Given the description of an element on the screen output the (x, y) to click on. 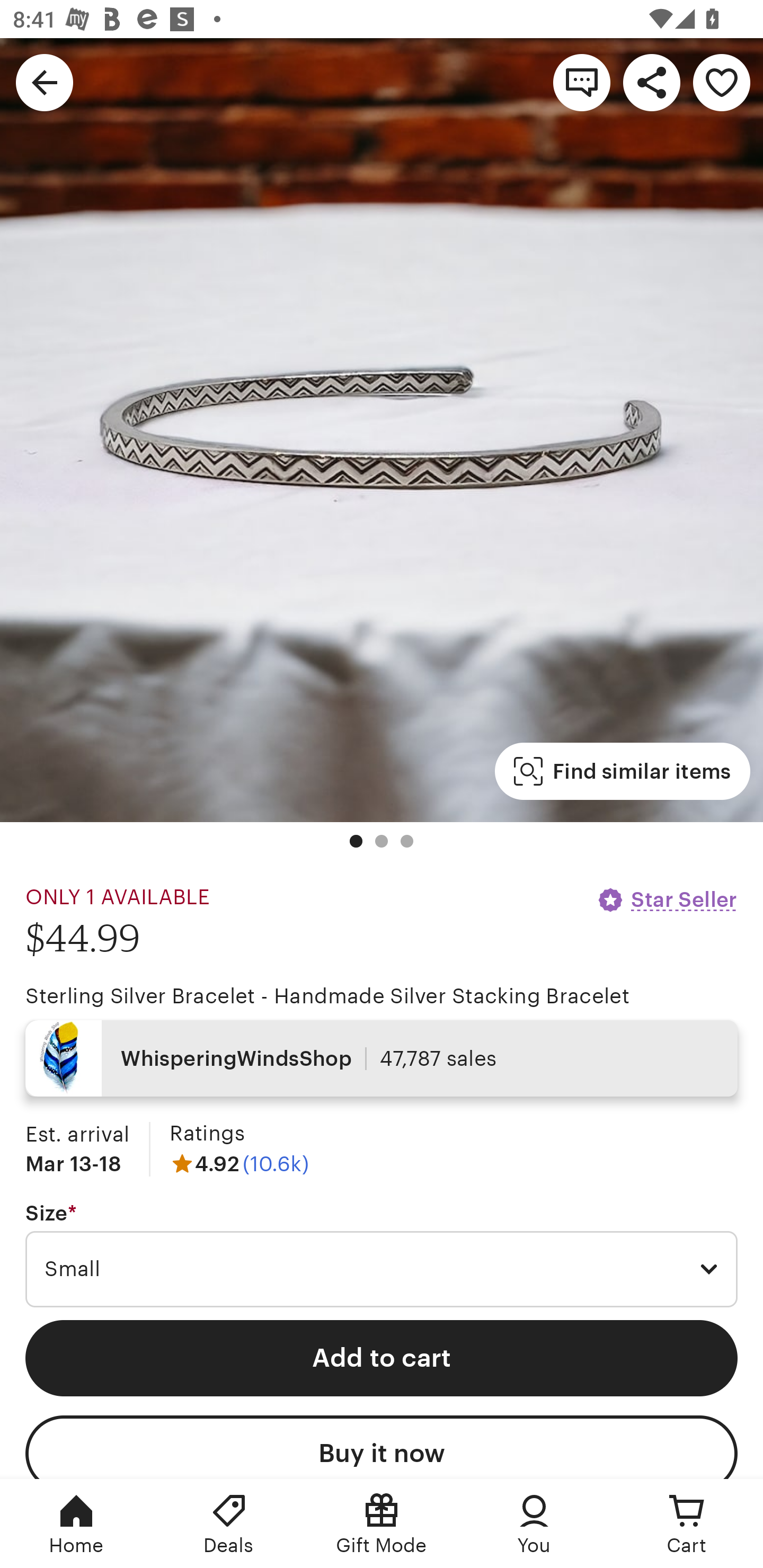
Navigate up (44, 81)
Contact shop (581, 81)
Share (651, 81)
Find similar items (622, 771)
Star Seller (666, 899)
WhisperingWindsShop 47,787 sales (381, 1058)
Ratings (206, 1133)
4.92 (10.6k) (239, 1163)
Size * Required Small (381, 1254)
Small (381, 1268)
Add to cart (381, 1358)
Buy it now (381, 1446)
Deals (228, 1523)
Gift Mode (381, 1523)
You (533, 1523)
Cart (686, 1523)
